Given the description of an element on the screen output the (x, y) to click on. 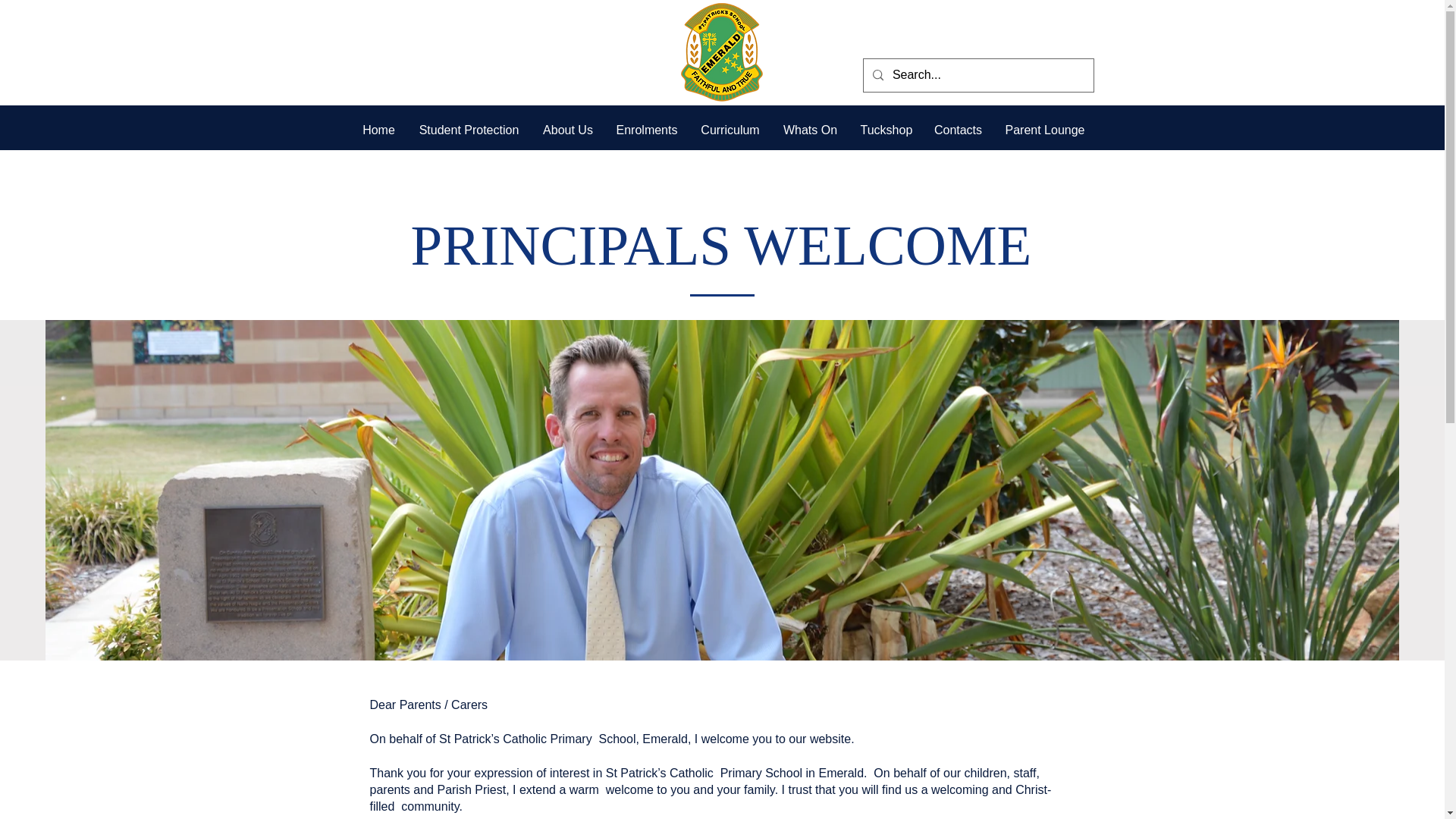
Student Protection (468, 129)
Home (378, 129)
Parent Lounge (1042, 129)
